Given the description of an element on the screen output the (x, y) to click on. 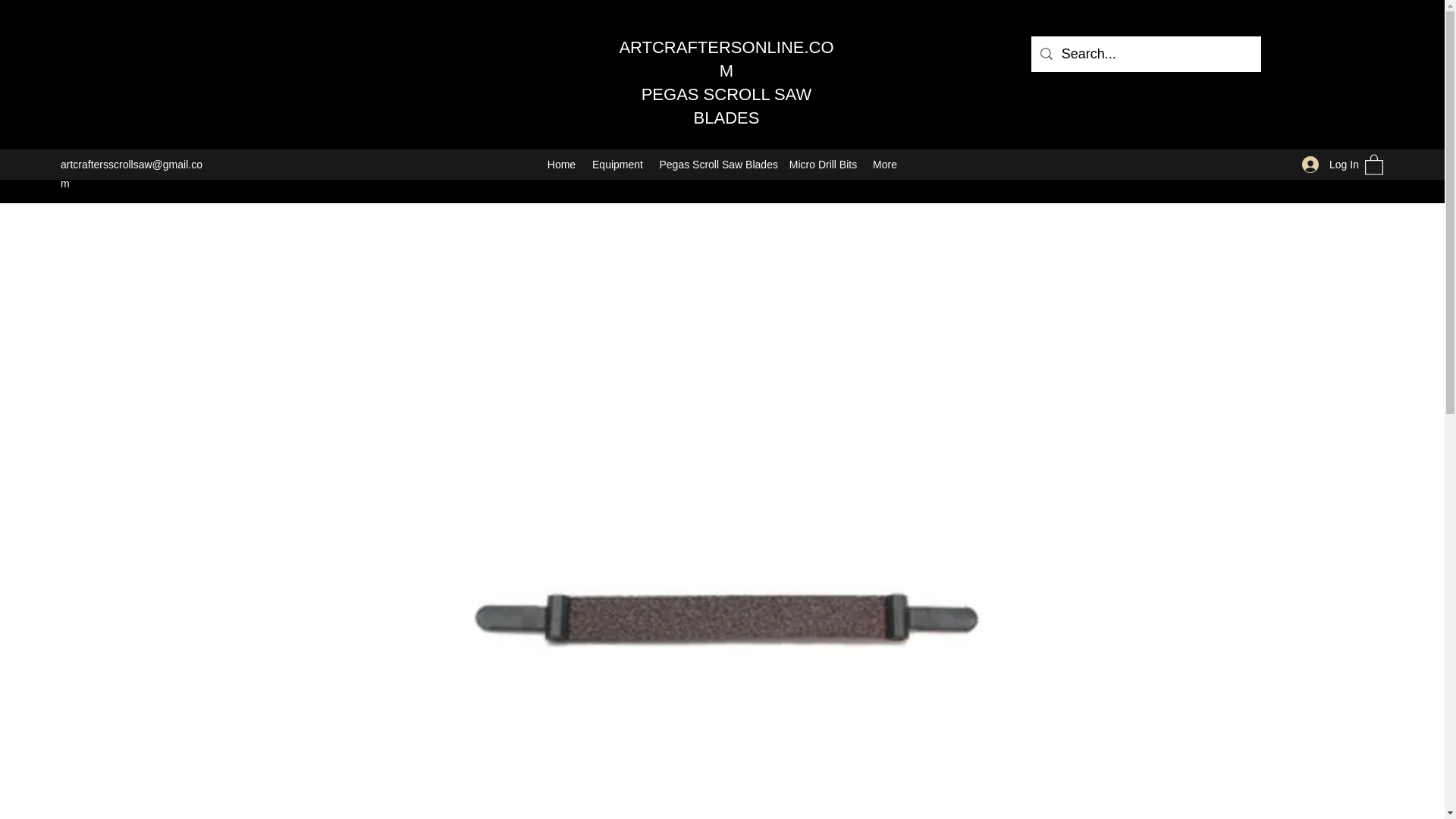
Home (561, 164)
Micro Drill Bits (822, 164)
Equipment (617, 164)
PEGAS SCROLL SAW BLADES (727, 106)
ARTCRAFTERSONLINE.COM (725, 58)
Log In (1325, 164)
